Given the description of an element on the screen output the (x, y) to click on. 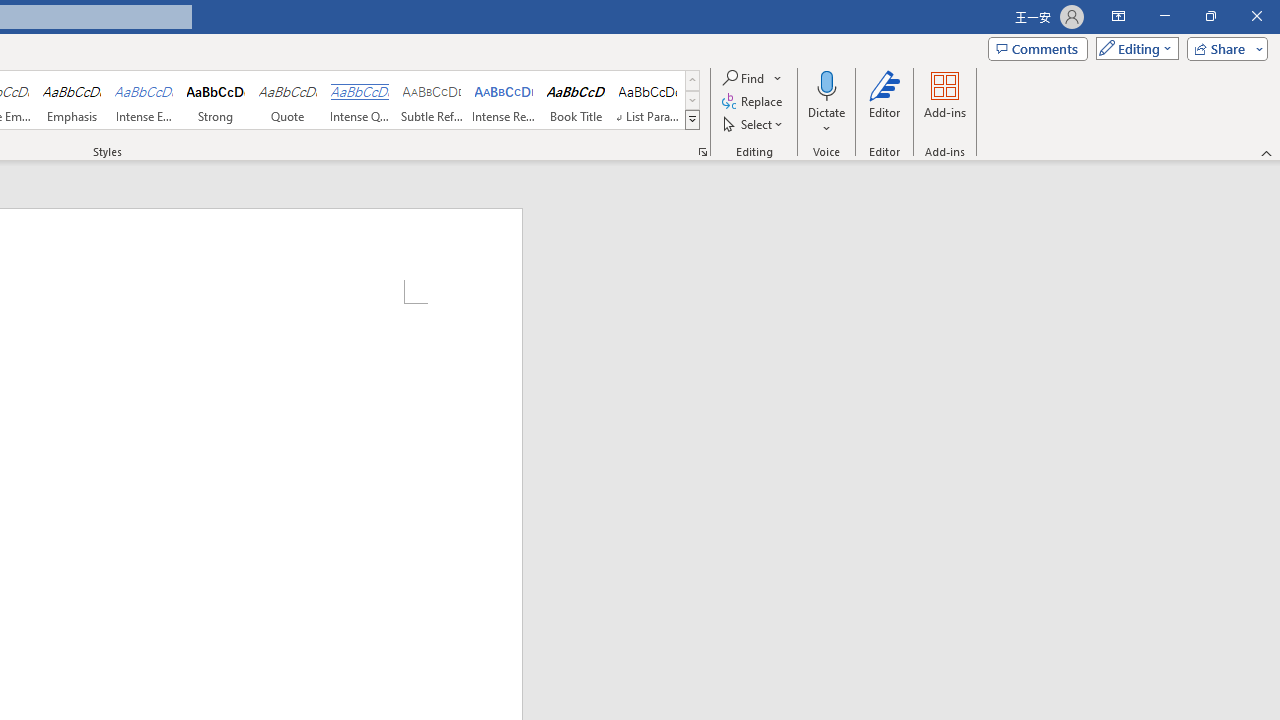
Intense Reference (504, 100)
Book Title (575, 100)
